Given the description of an element on the screen output the (x, y) to click on. 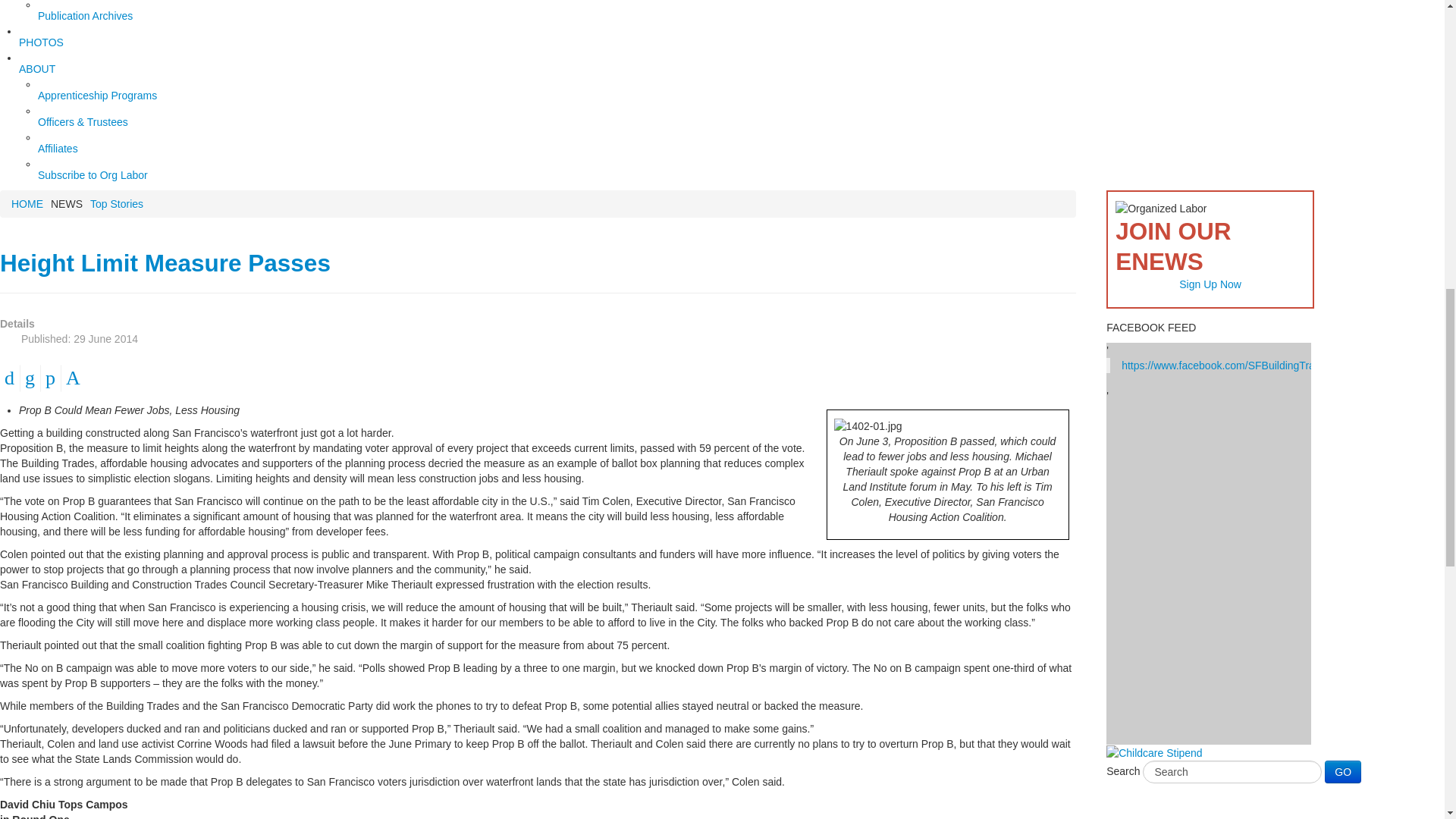
Search (1232, 771)
Subscribe to Org Labor (115, 176)
Childcare Stipend 1 (1154, 752)
Apprenticeship Programs (115, 96)
Affiliates (115, 150)
HOME (27, 203)
Top Stories (116, 203)
Publication Archives (115, 17)
Search (1232, 771)
